Given the description of an element on the screen output the (x, y) to click on. 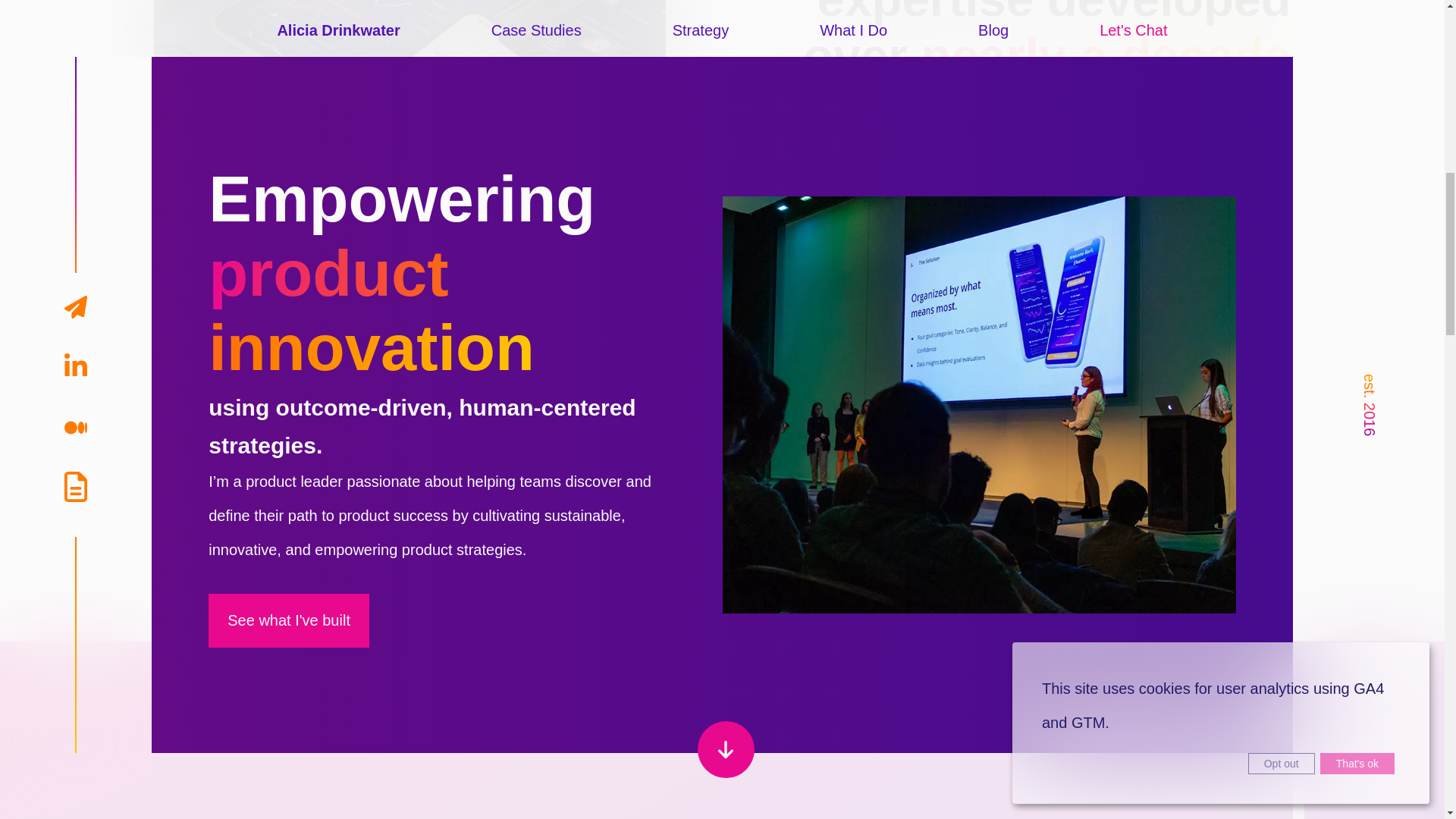
Read more about my experience (1161, 433)
